Given the description of an element on the screen output the (x, y) to click on. 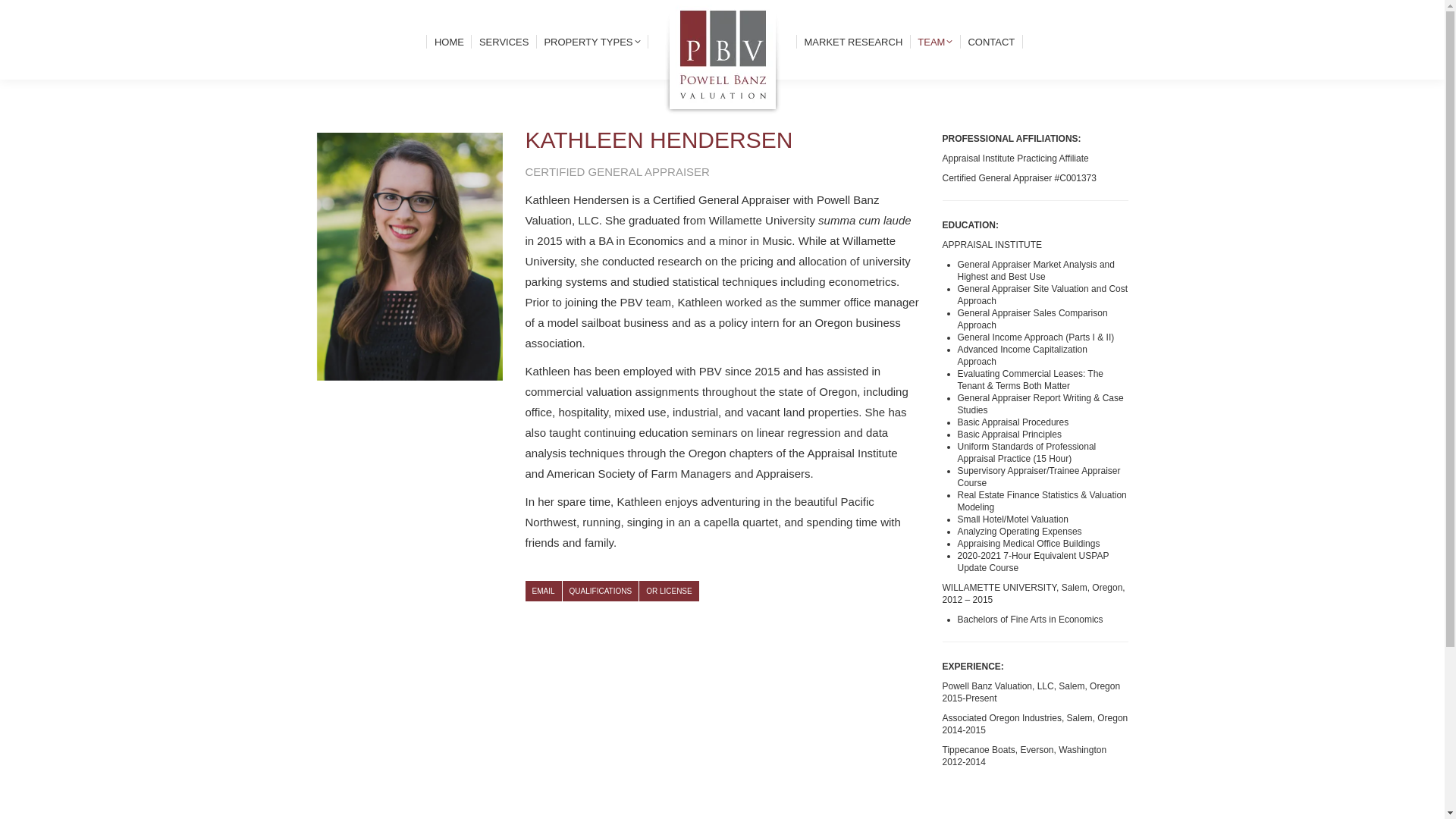
SERVICES (504, 41)
MARKET RESEARCH (852, 41)
PROPERTY TYPES (591, 41)
